Given the description of an element on the screen output the (x, y) to click on. 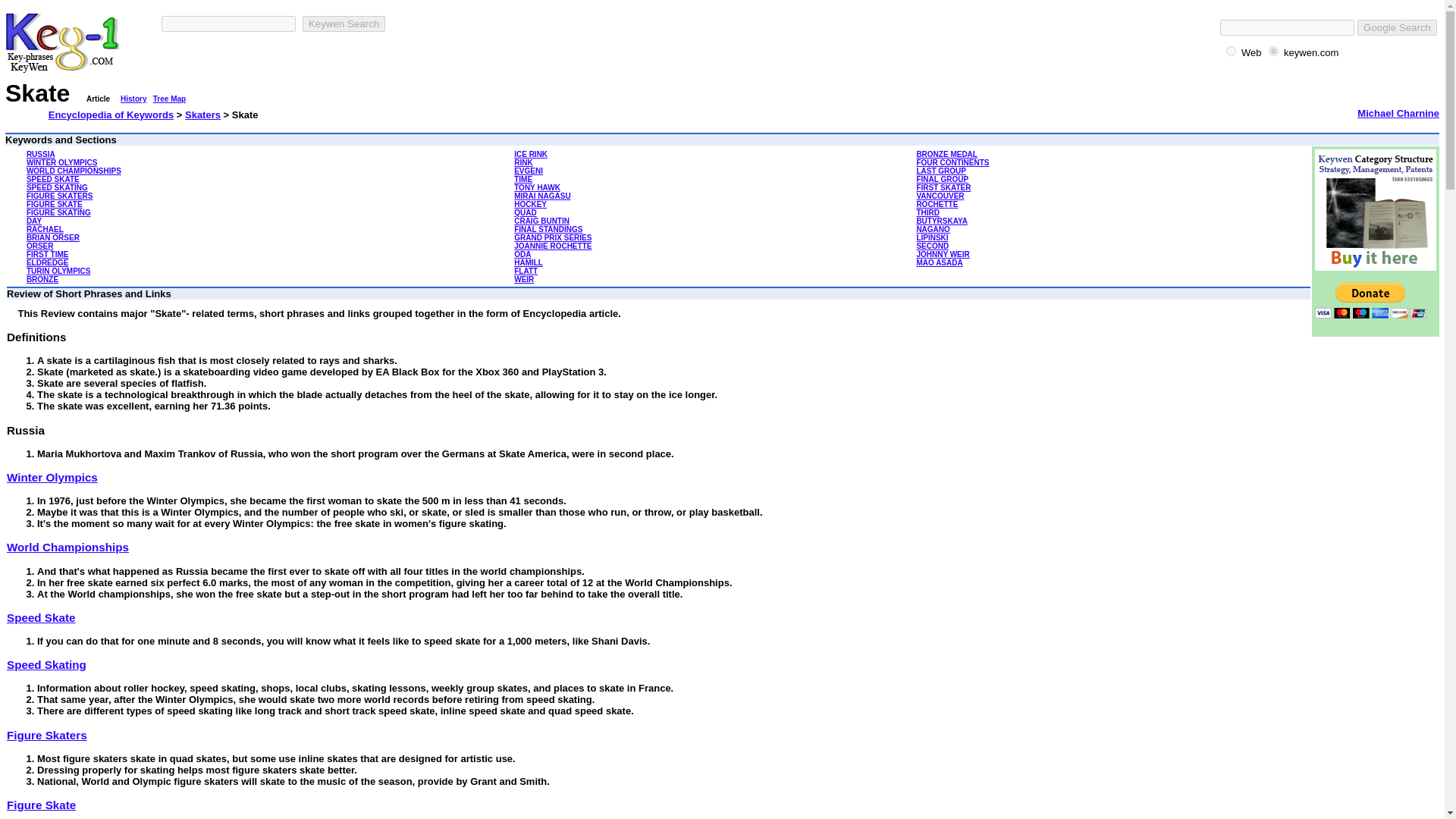
BRONZE MEDAL (945, 153)
MIRAI NAGASU (541, 195)
ELDREDGE (47, 262)
FIGURE SKATING (58, 212)
HAMILL (528, 262)
TIME (522, 179)
WORLD CHAMPIONSHIPS (73, 171)
Encyclopedia of Keywords (110, 114)
WEIR (523, 279)
Tree Map (169, 99)
Keywen Search (343, 23)
SPEED SKATE (53, 179)
Search keywen.com (1311, 51)
ICE RINK (530, 153)
FLATT (525, 270)
